Given the description of an element on the screen output the (x, y) to click on. 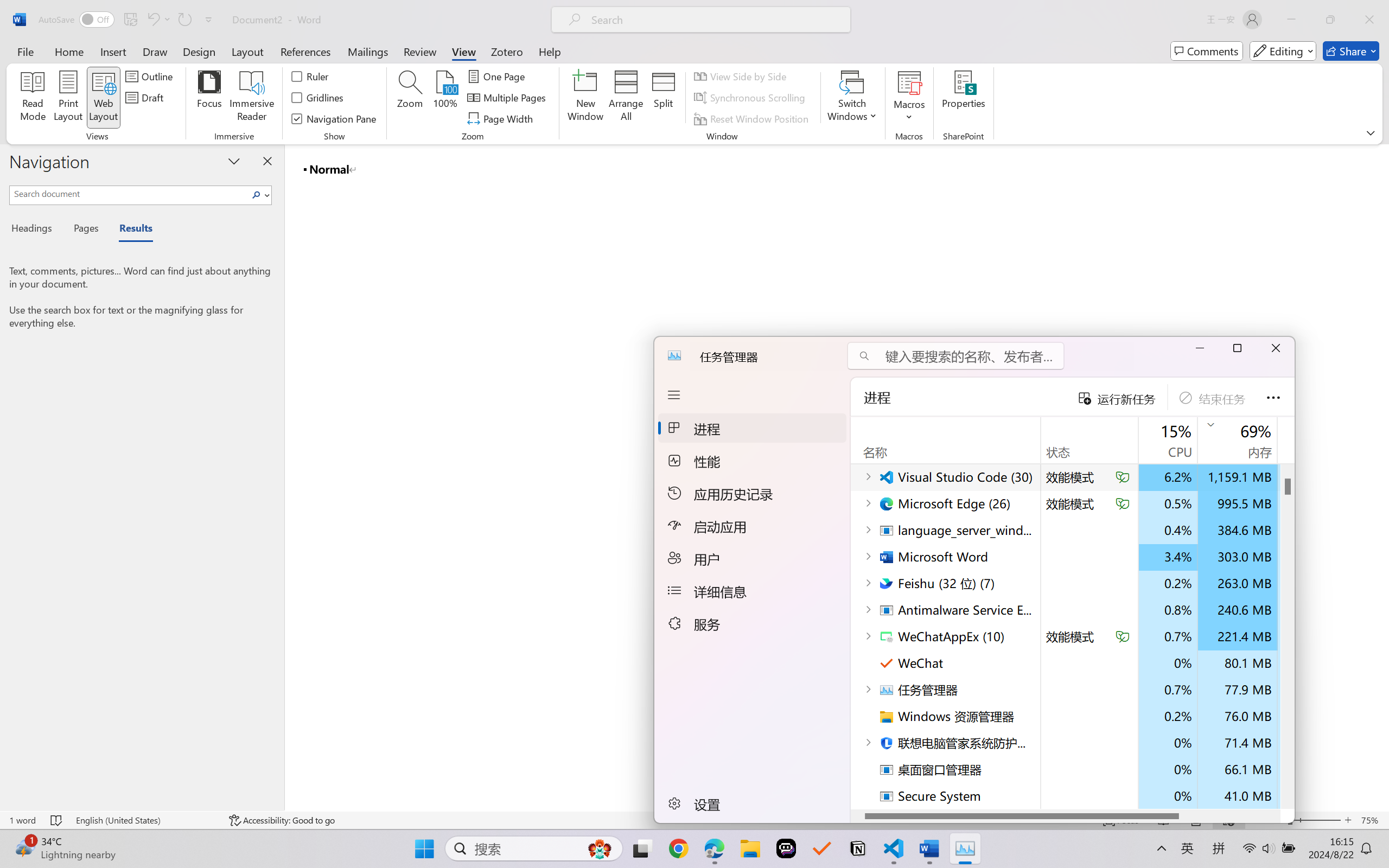
Mode (1283, 50)
View Side by Side (741, 75)
Word Count 1 word (21, 819)
Search (259, 194)
Split (663, 97)
Page Width (501, 118)
Multiple Pages (507, 97)
